Given the description of an element on the screen output the (x, y) to click on. 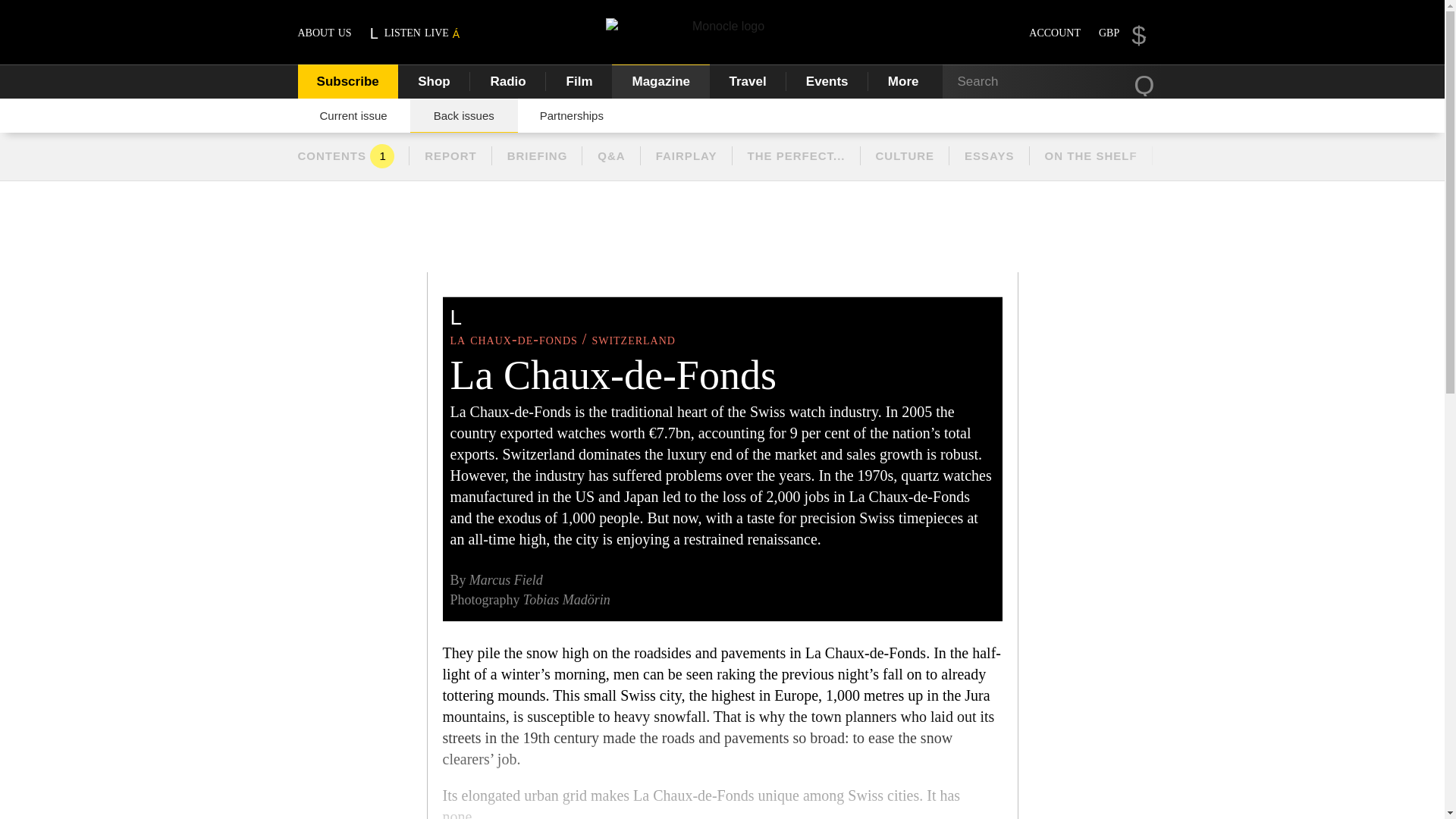
Travel (747, 81)
Events (827, 81)
Subscribe (347, 81)
Shop (433, 81)
Shop (433, 81)
Magazine (660, 81)
Film (578, 81)
More (905, 81)
Subscribe (347, 81)
L listen live (415, 31)
